Given the description of an element on the screen output the (x, y) to click on. 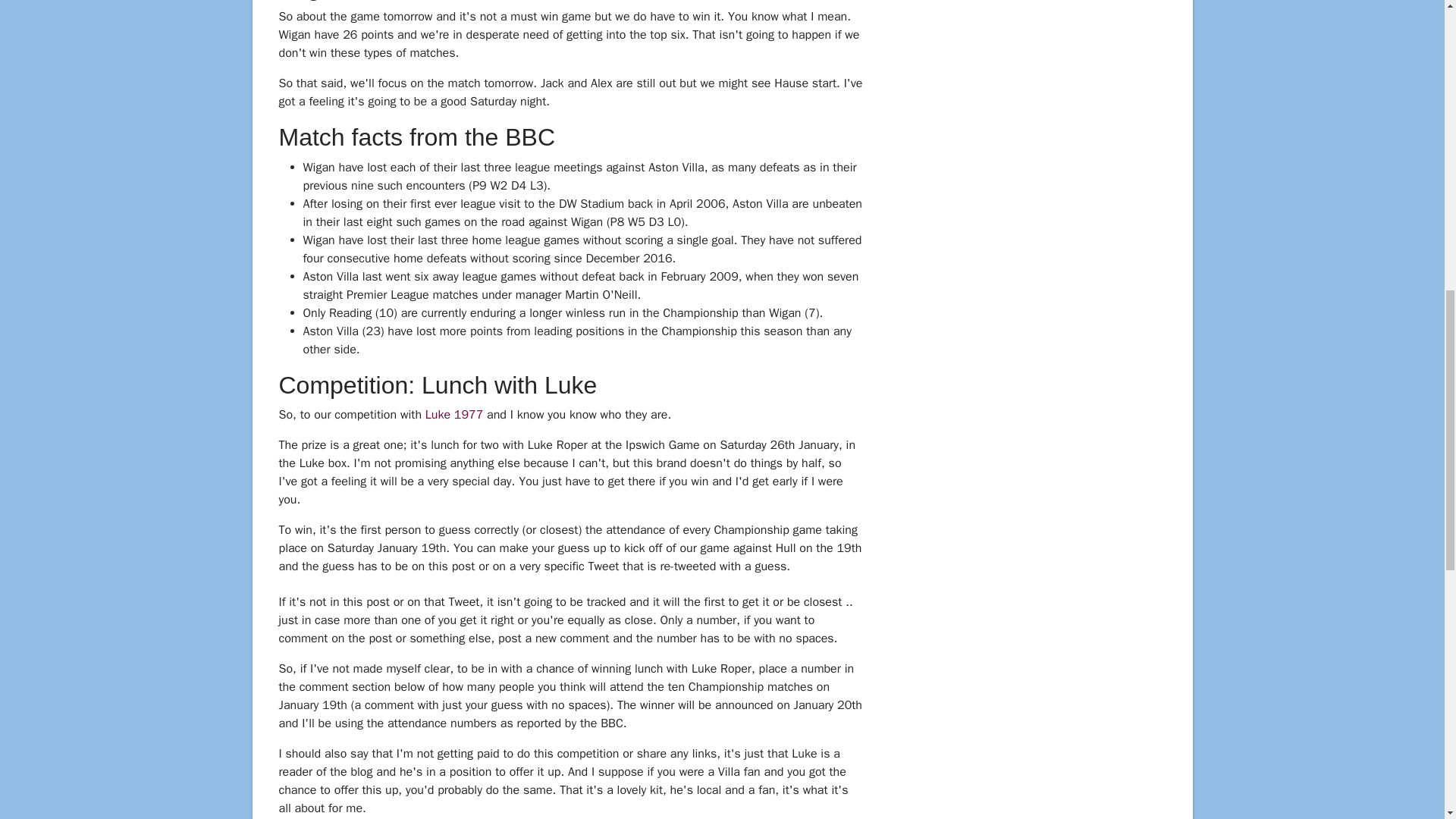
Luke 1977 (454, 414)
